Given the description of an element on the screen output the (x, y) to click on. 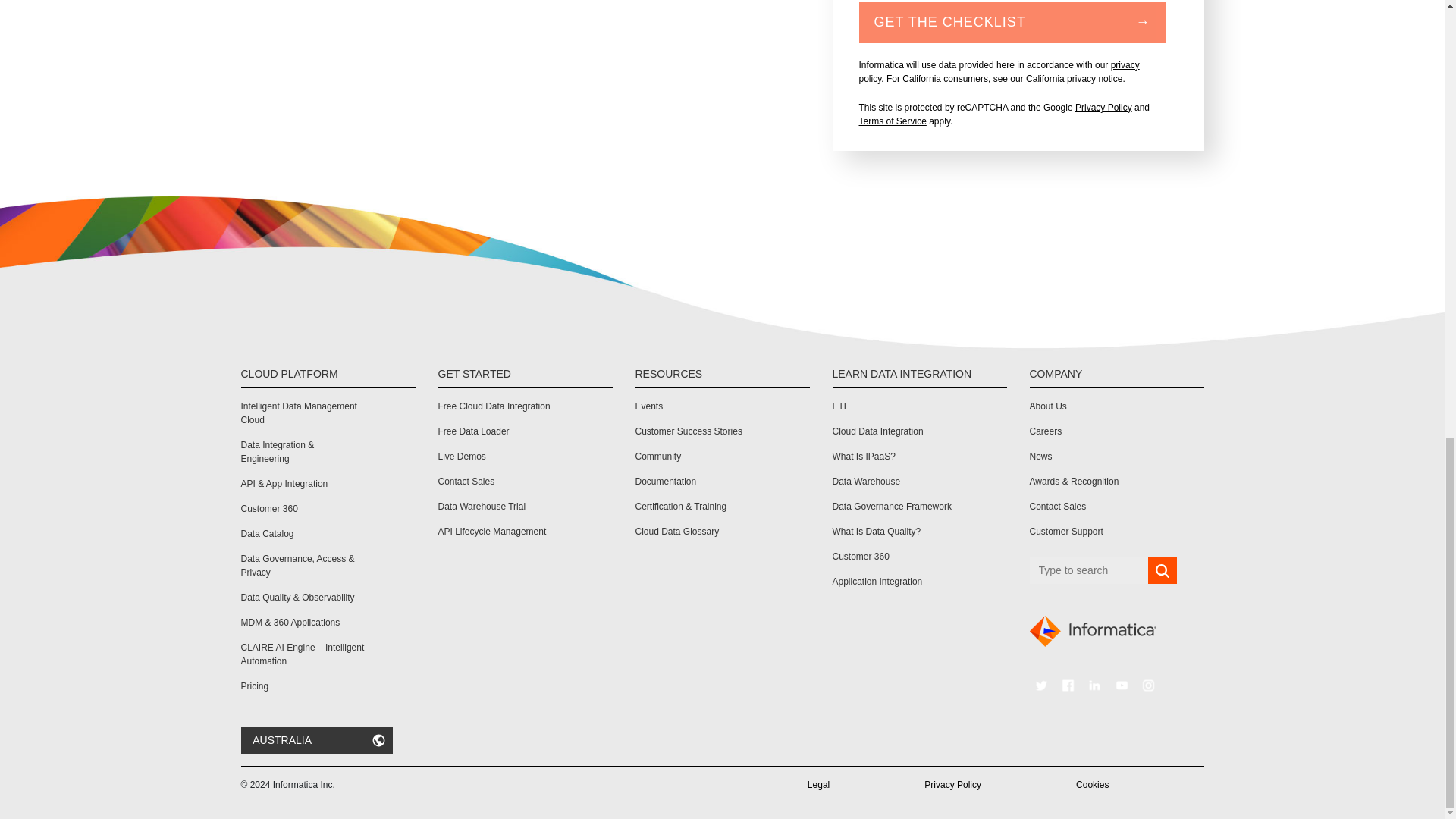
Insert a query. Press enter to send (1088, 570)
privacy policy (998, 71)
Terms of Service (892, 121)
privacy notice (1094, 78)
Search (1162, 571)
Privacy Policy (1103, 107)
